Given the description of an element on the screen output the (x, y) to click on. 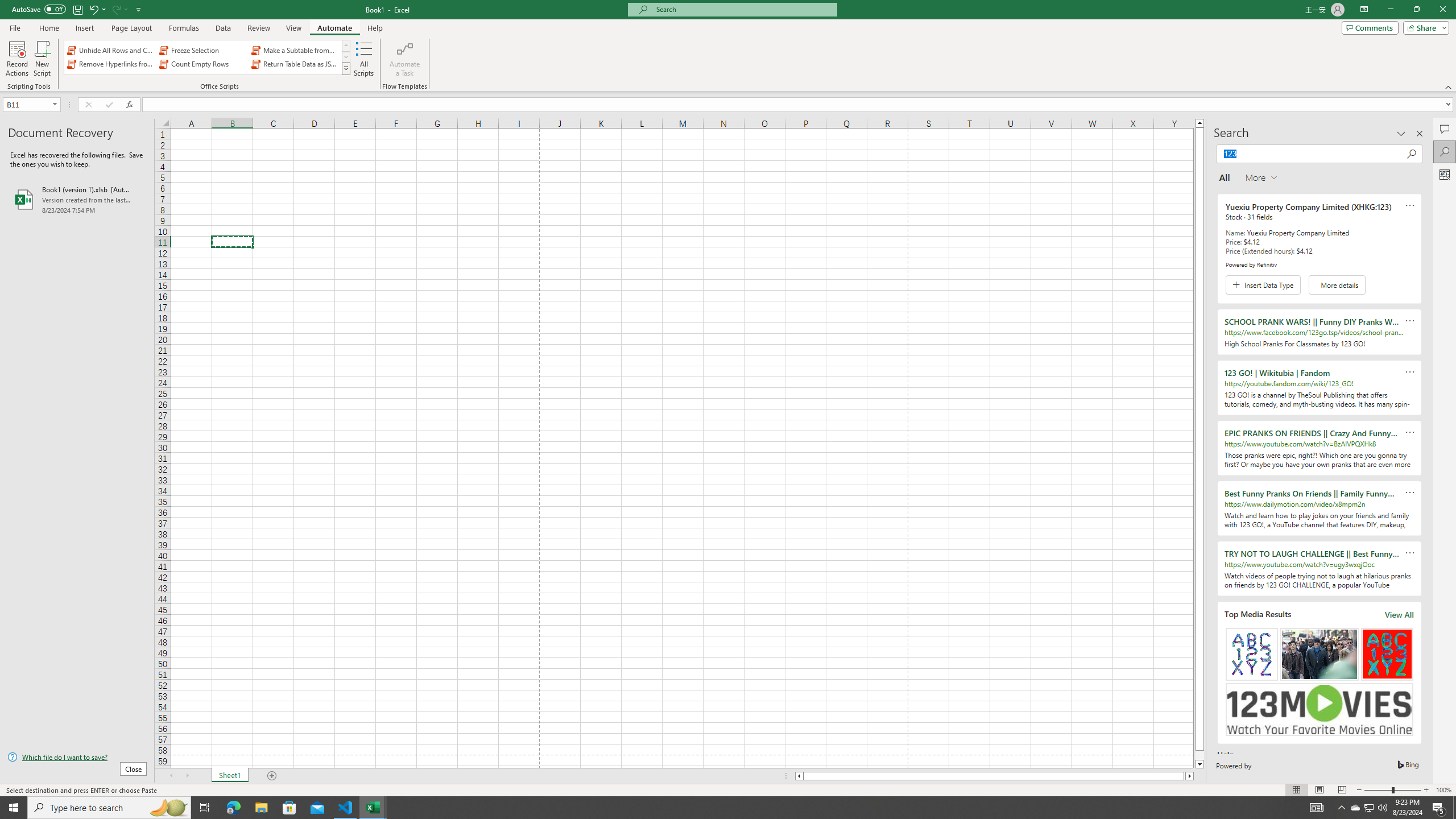
Return Table Data as JSON (294, 64)
